Given the description of an element on the screen output the (x, y) to click on. 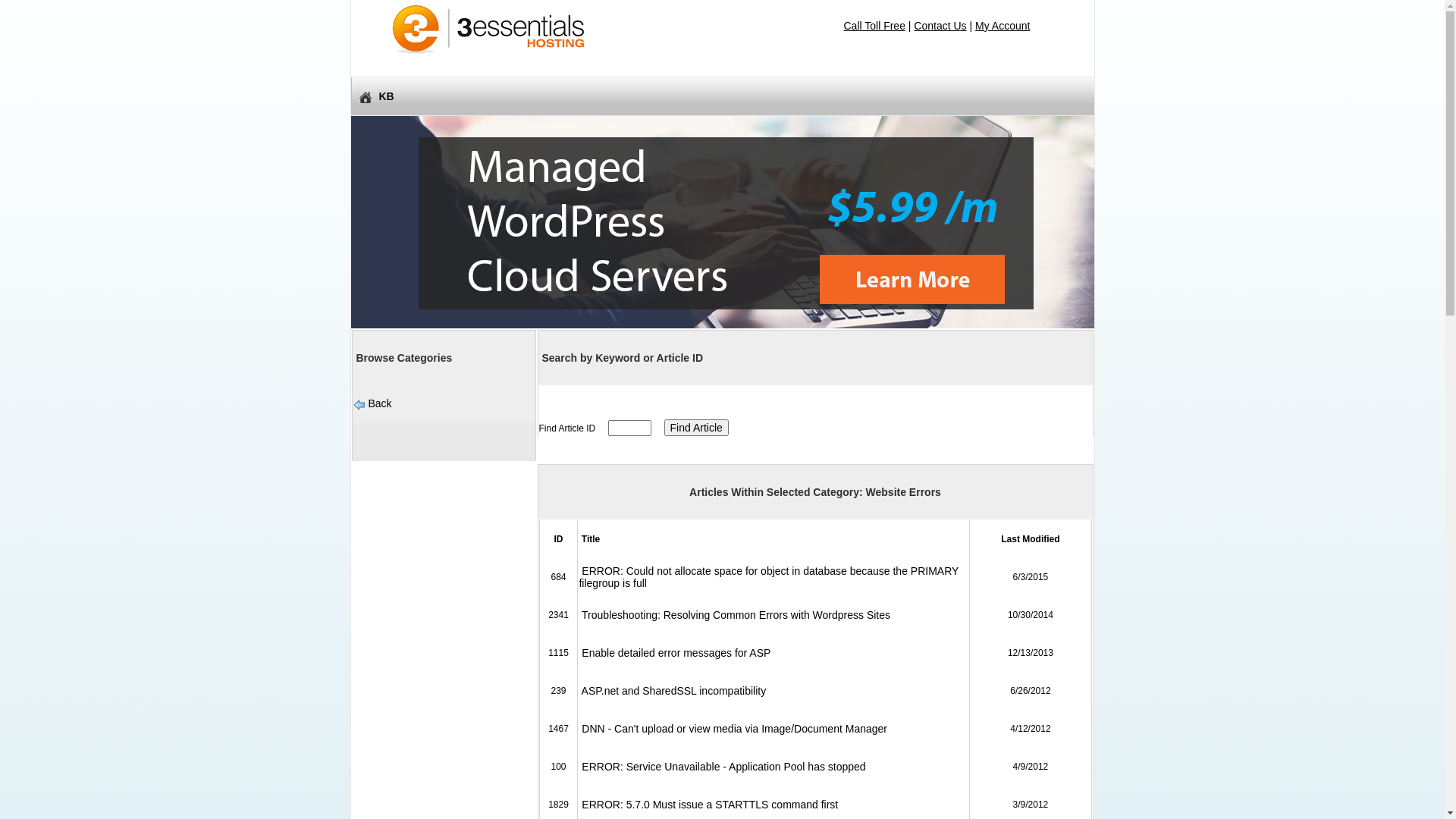
 ERROR: 5.7.0 Must issue a STARTTLS command first Element type: text (707, 804)
My Account Element type: text (1002, 25)
 ASP.net and SharedSSL incompatibility Element type: text (671, 690)
Call Toll Free Element type: text (873, 25)
Contact Us Element type: text (939, 25)
Find Article Element type: text (696, 427)
 Back Element type: text (378, 403)
KB Element type: text (721, 96)
 Enable detailed error messages for ASP Element type: text (674, 652)
 DNN - Can't upload or view media via Image/Document Manager Element type: text (732, 728)
 ERROR: Service Unavailable - Application Pool has stopped Element type: text (721, 766)
